Given the description of an element on the screen output the (x, y) to click on. 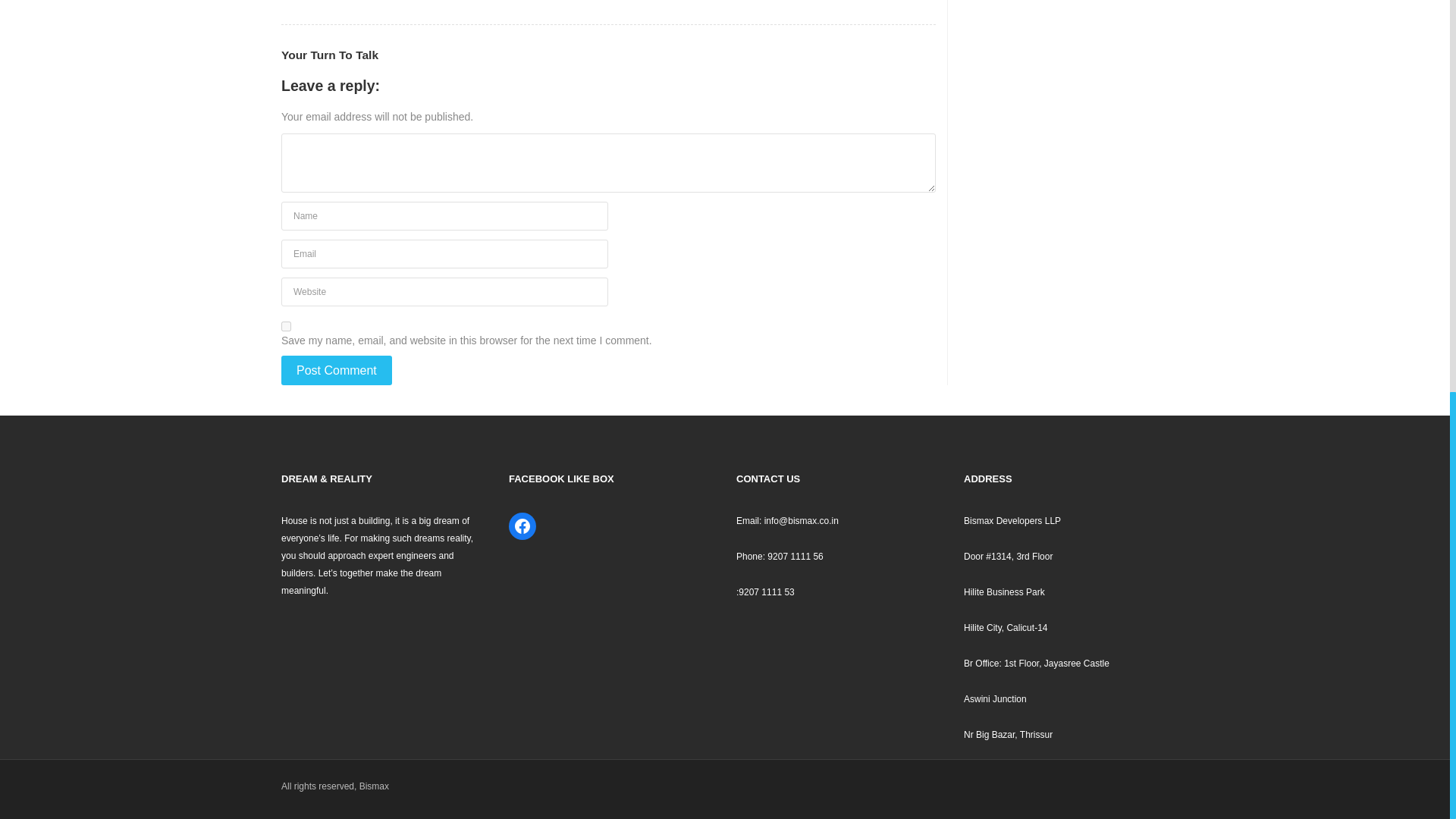
yes (286, 326)
Post Comment (336, 369)
Post Comment (336, 369)
